Given the description of an element on the screen output the (x, y) to click on. 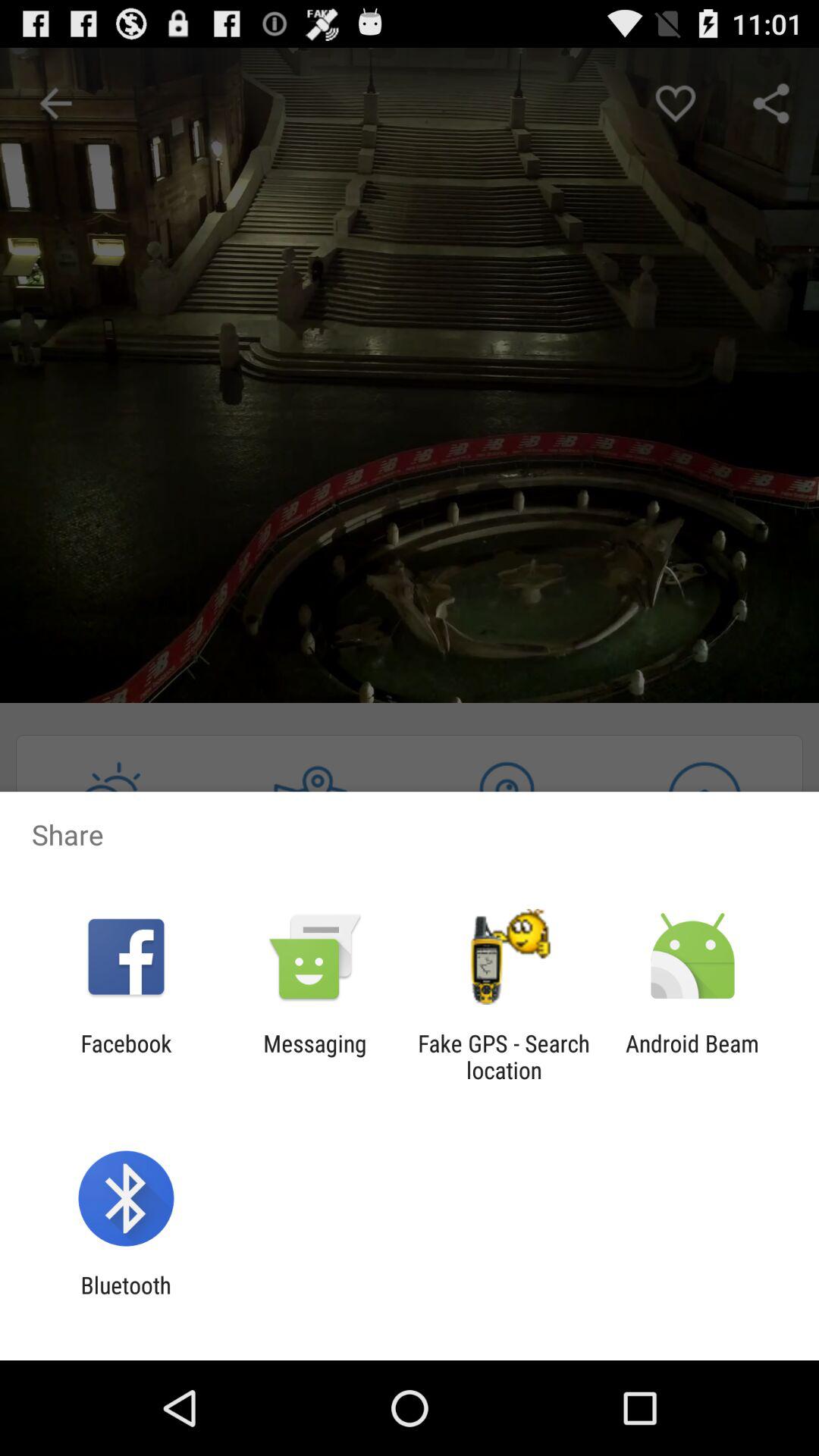
tap item to the left of android beam (503, 1056)
